Given the description of an element on the screen output the (x, y) to click on. 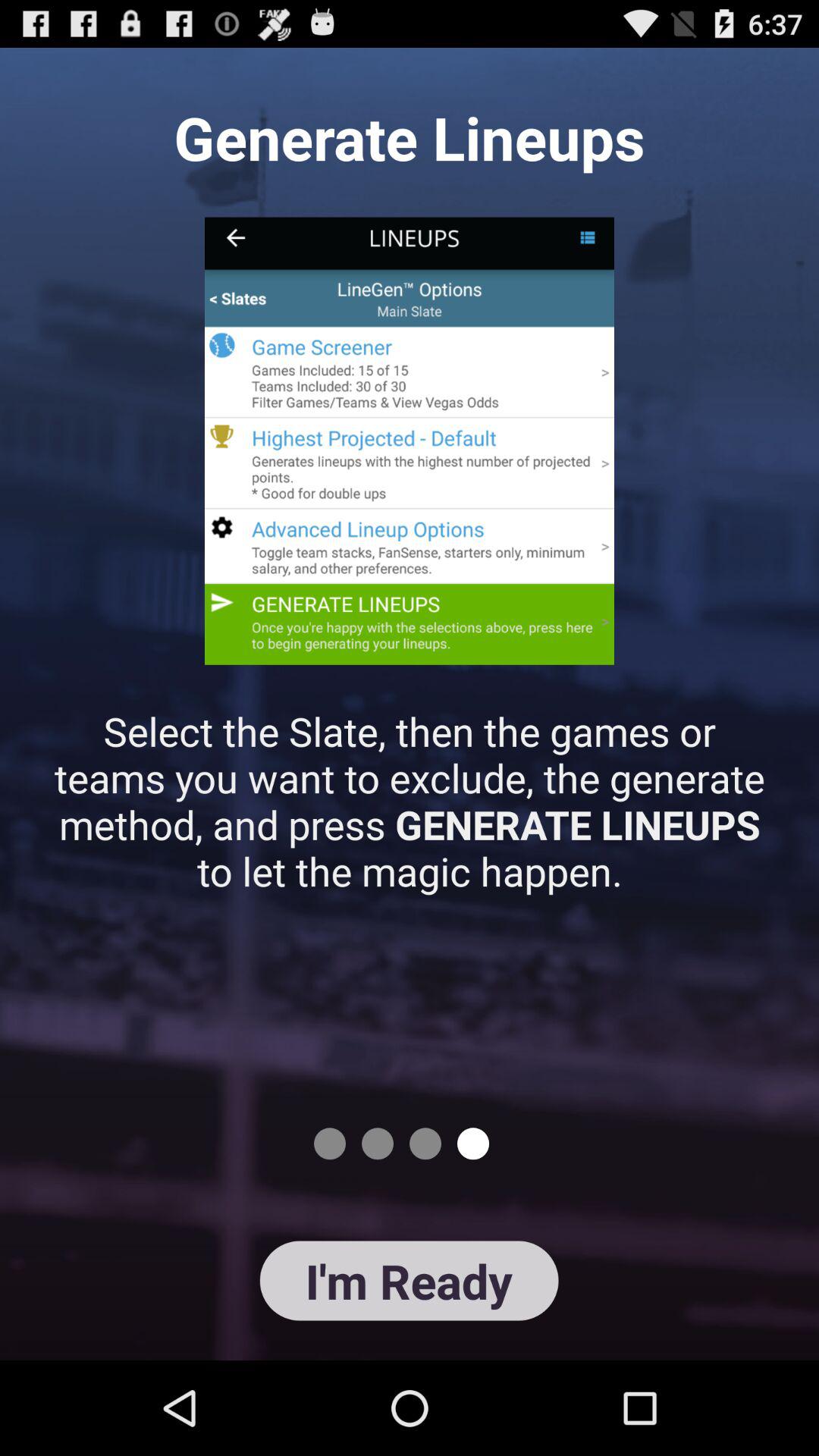
click i'm ready (408, 1280)
